Given the description of an element on the screen output the (x, y) to click on. 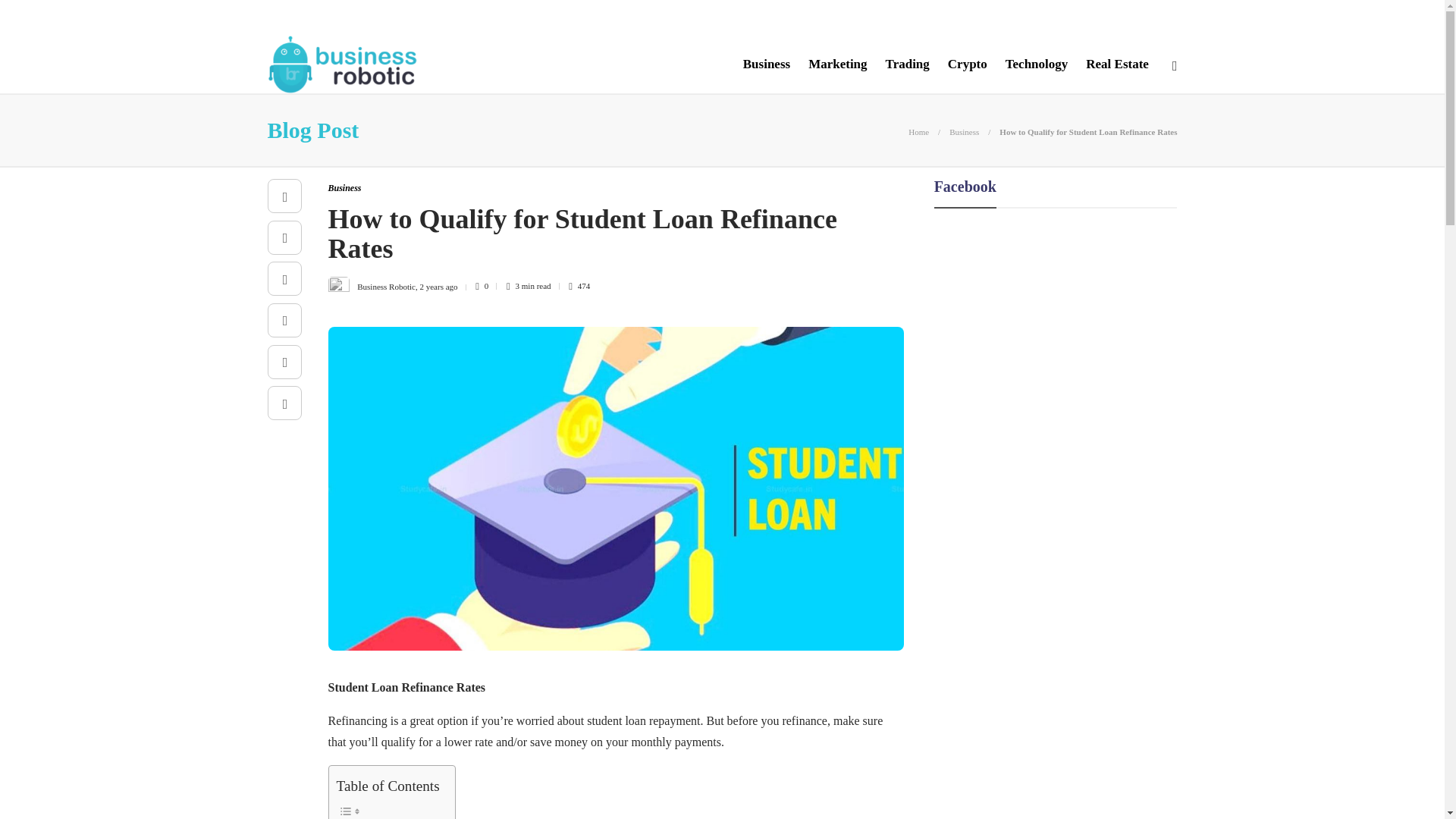
How to Qualify for Student Loan Refinance Rates (1087, 131)
Home (918, 131)
About Us (292, 17)
Business Robotic Write For Us (465, 17)
Marketing (837, 63)
Technology (1037, 63)
Home (918, 131)
Contact Us (597, 17)
Business (963, 131)
Real Estate (1117, 63)
